Given the description of an element on the screen output the (x, y) to click on. 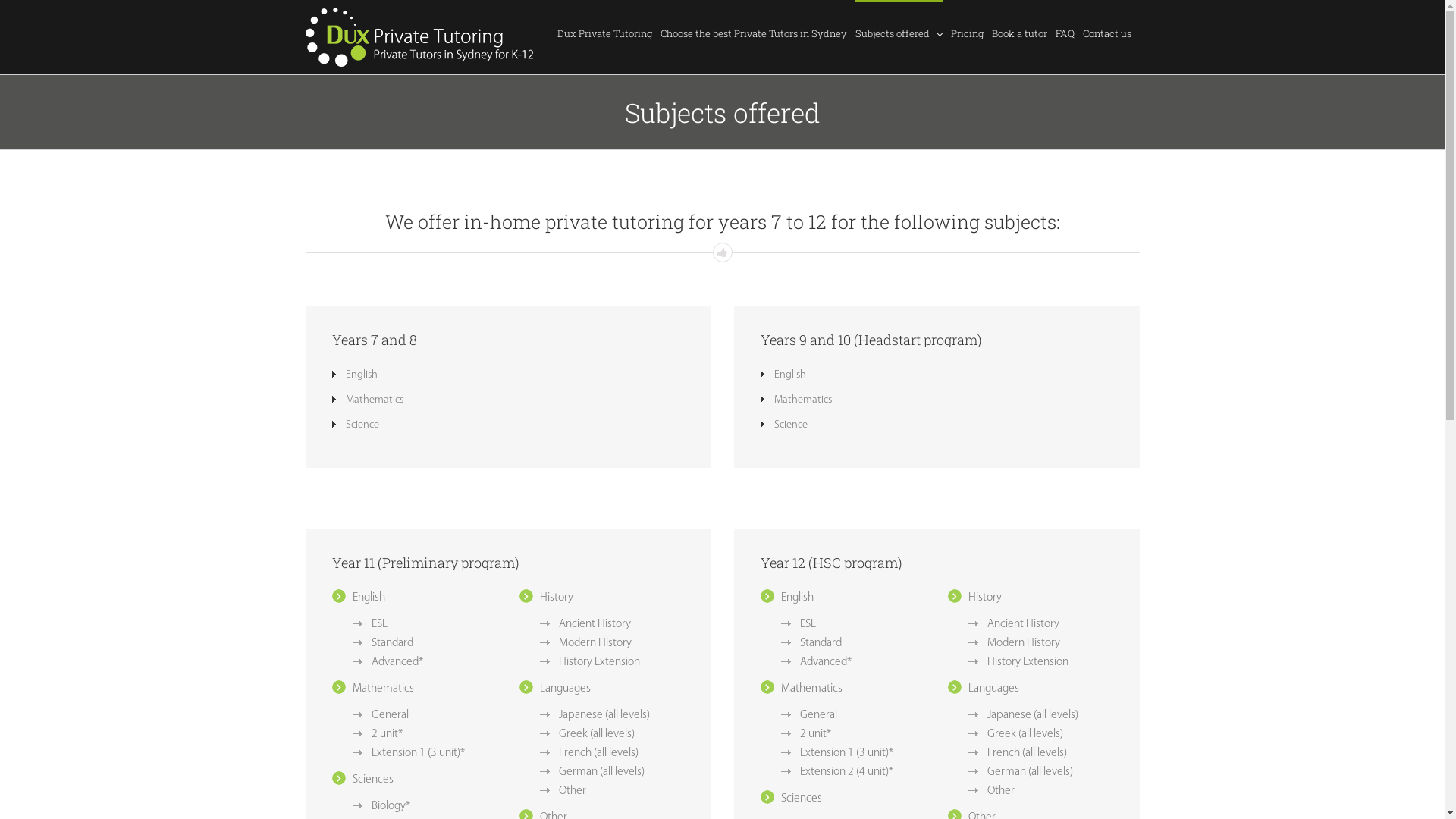
Contact us Element type: text (1106, 32)
Book a tutor Element type: text (1019, 32)
Choose the best Private Tutors in Sydney Element type: text (752, 32)
Subjects offered Element type: text (898, 32)
FAQ Element type: text (1064, 32)
Dux Private Tutoring Element type: text (603, 32)
Pricing Element type: text (966, 32)
